Given the description of an element on the screen output the (x, y) to click on. 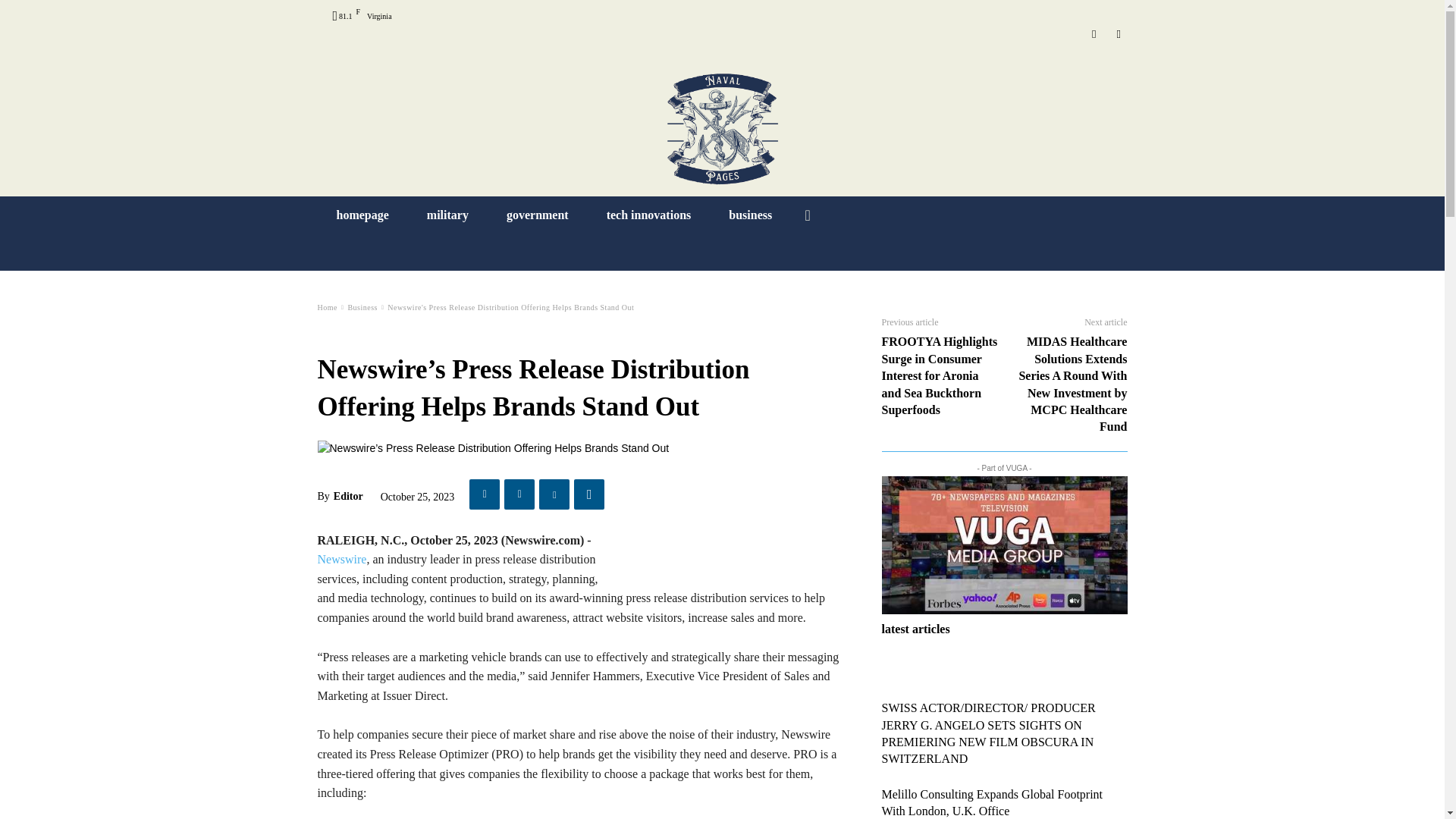
Facebook (1117, 34)
Naval Pages (721, 128)
Newswire (341, 558)
View all posts in Business (362, 307)
government (537, 214)
Instagram (1094, 34)
Home (326, 307)
military (447, 214)
homepage (362, 214)
tech innovations (649, 214)
